Given the description of an element on the screen output the (x, y) to click on. 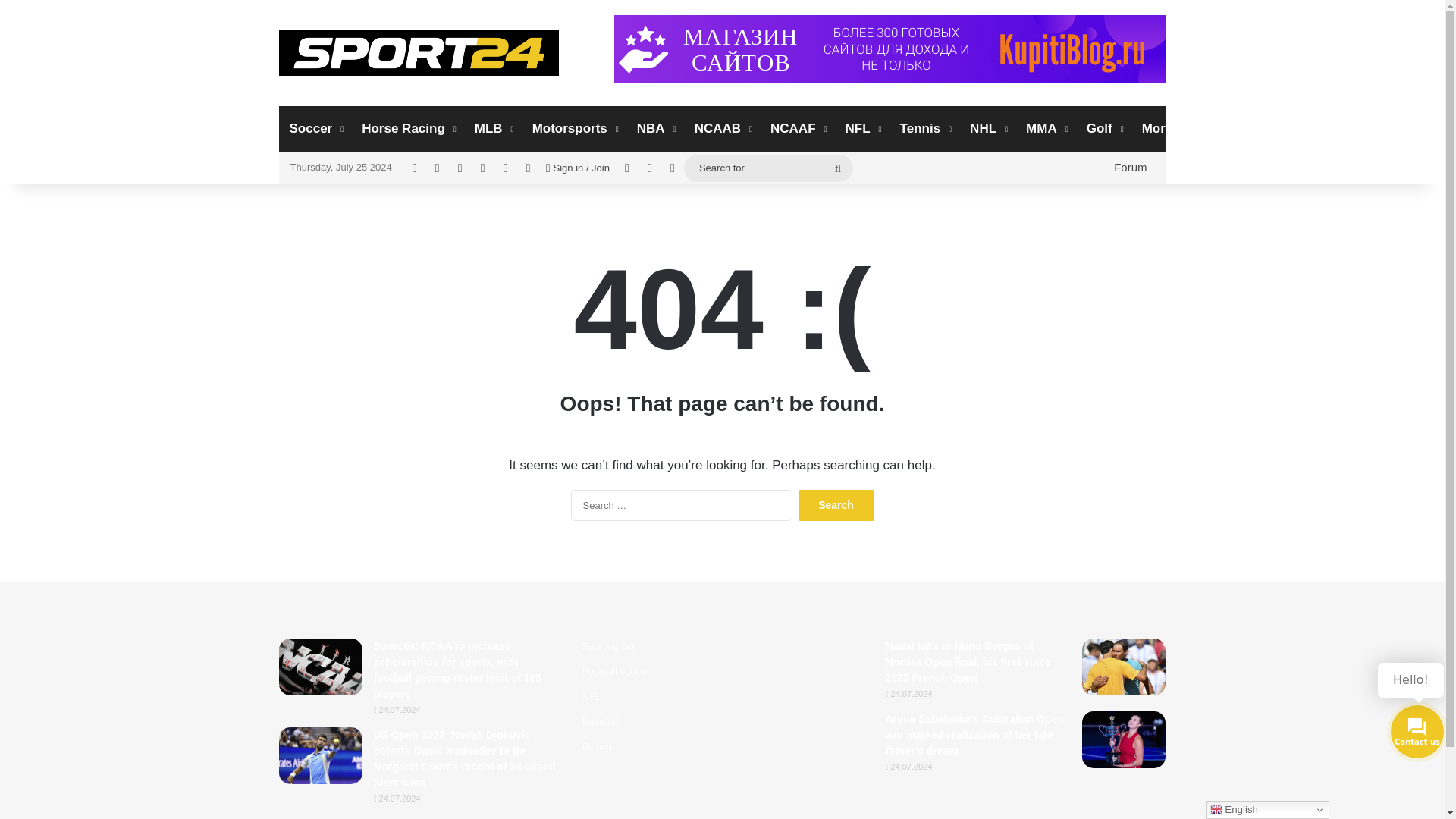
Search for (768, 167)
Soccer (315, 128)
Search (835, 504)
Random Article (627, 168)
Horse Racing (407, 128)
NBA (655, 128)
Search (835, 504)
MLB (492, 128)
Motorsports (573, 128)
Switch skin (672, 168)
